Given the description of an element on the screen output the (x, y) to click on. 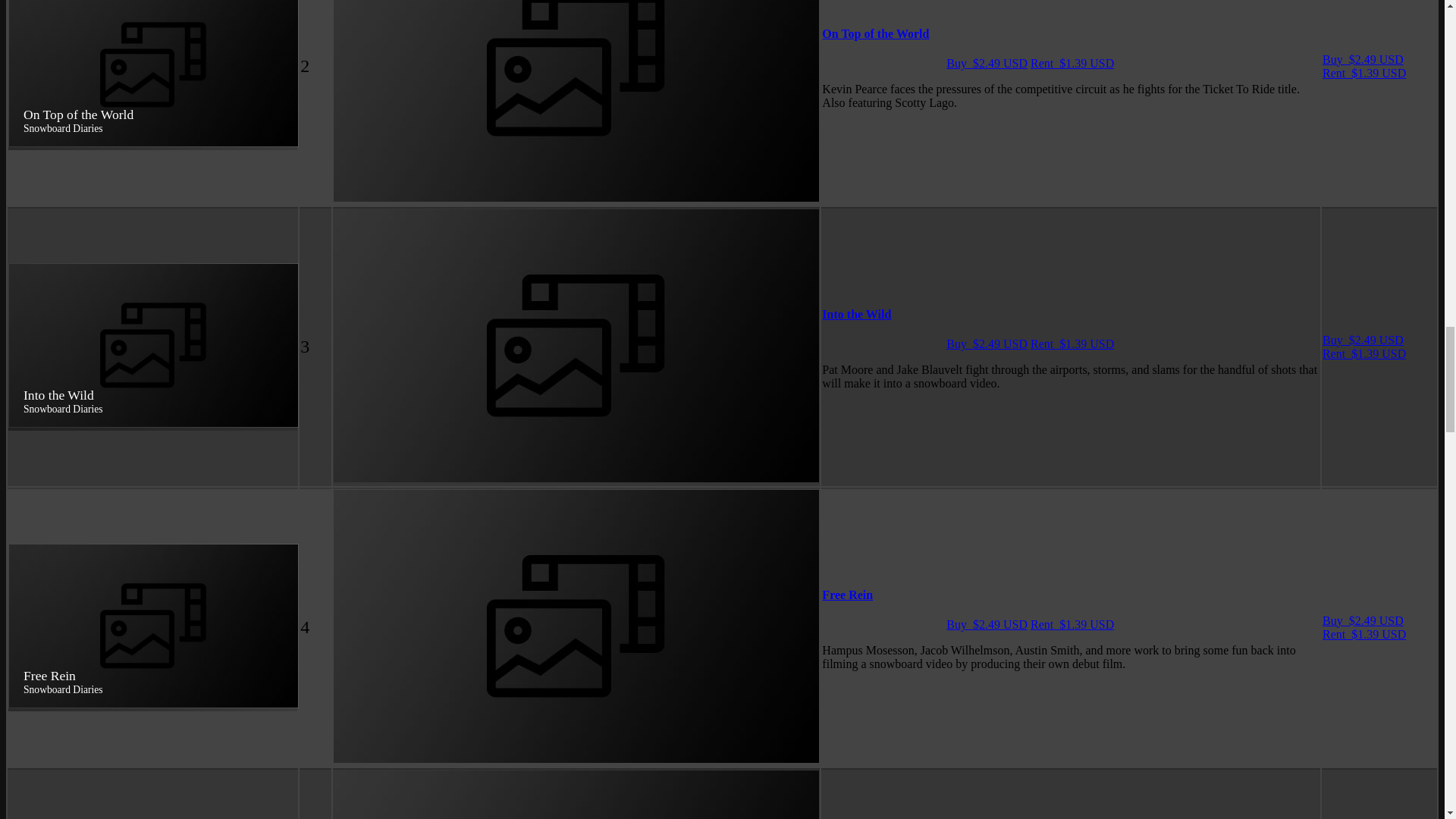
Free Rein (847, 594)
On Top of the World (875, 33)
Into the Wild (856, 314)
